Given the description of an element on the screen output the (x, y) to click on. 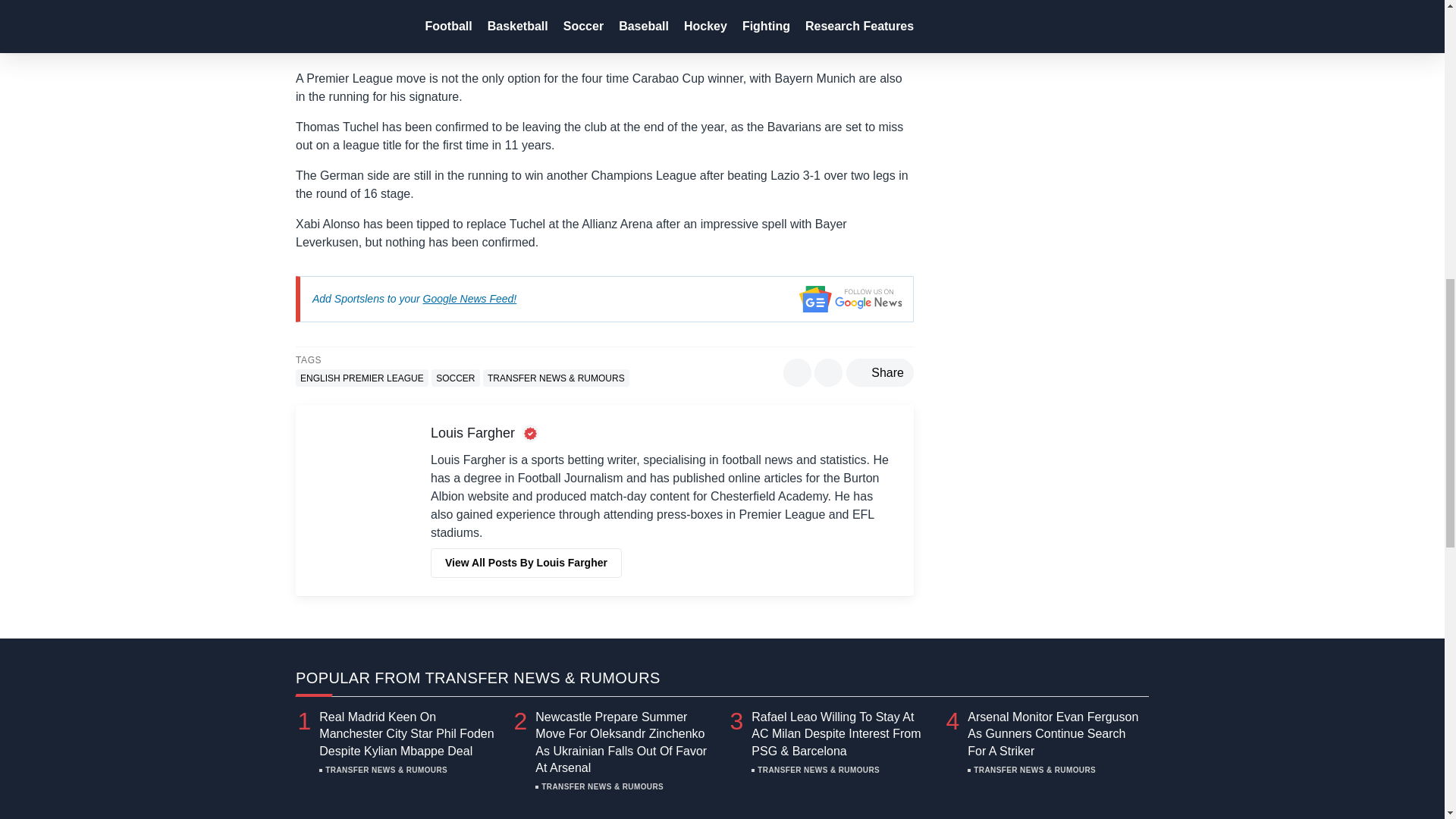
Share (879, 372)
View All Posts By Louis Fargher (525, 562)
SOCCER (454, 377)
ENGLISH PREMIER LEAGUE (361, 377)
Google News Feed! (469, 298)
